Given the description of an element on the screen output the (x, y) to click on. 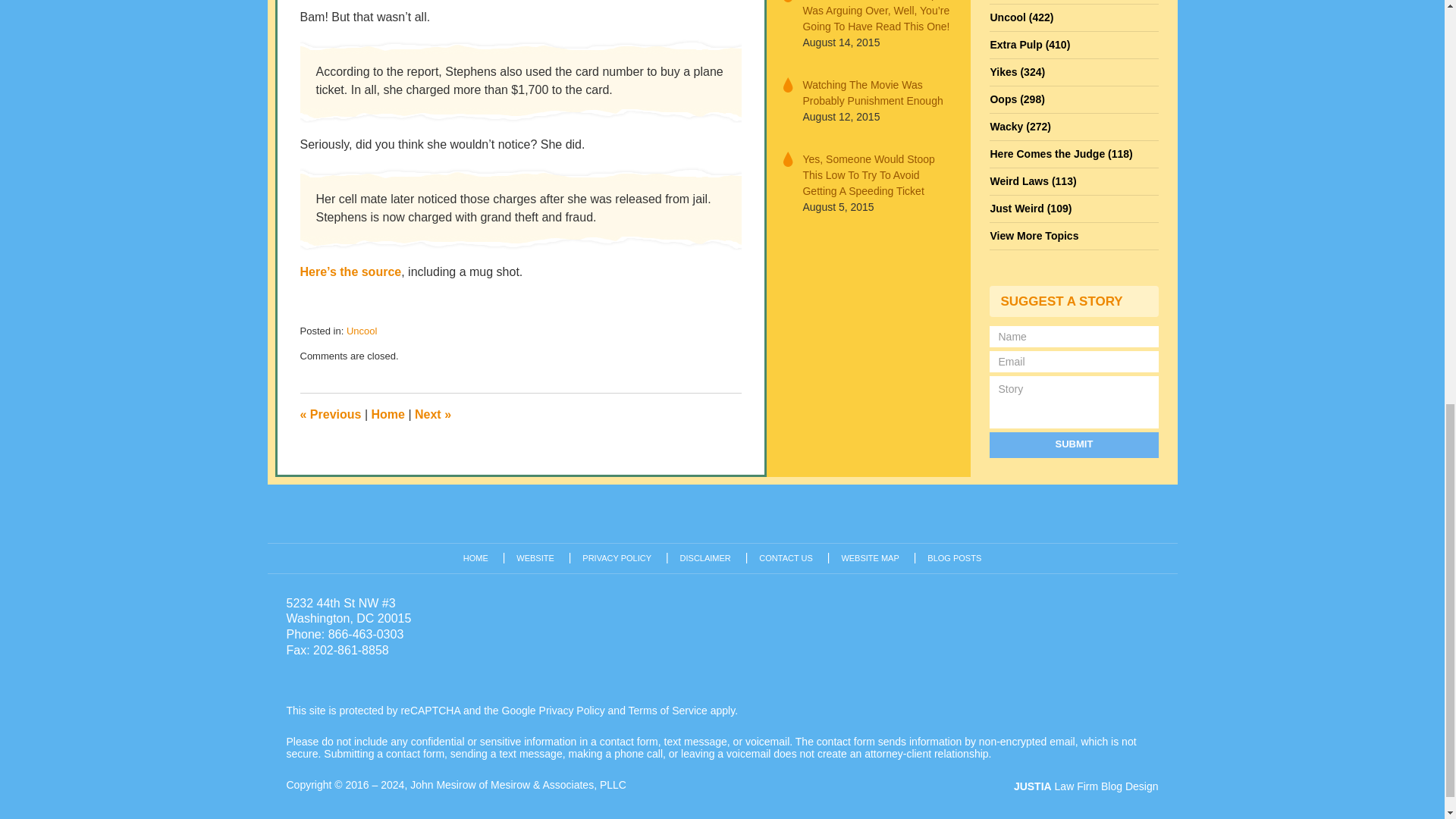
Home (387, 413)
View all posts in Uncool (361, 330)
Uncool (361, 330)
Curse You Hidden Camera! (432, 413)
Watching The Movie Was Probably Punishment Enough (877, 92)
